Given the description of an element on the screen output the (x, y) to click on. 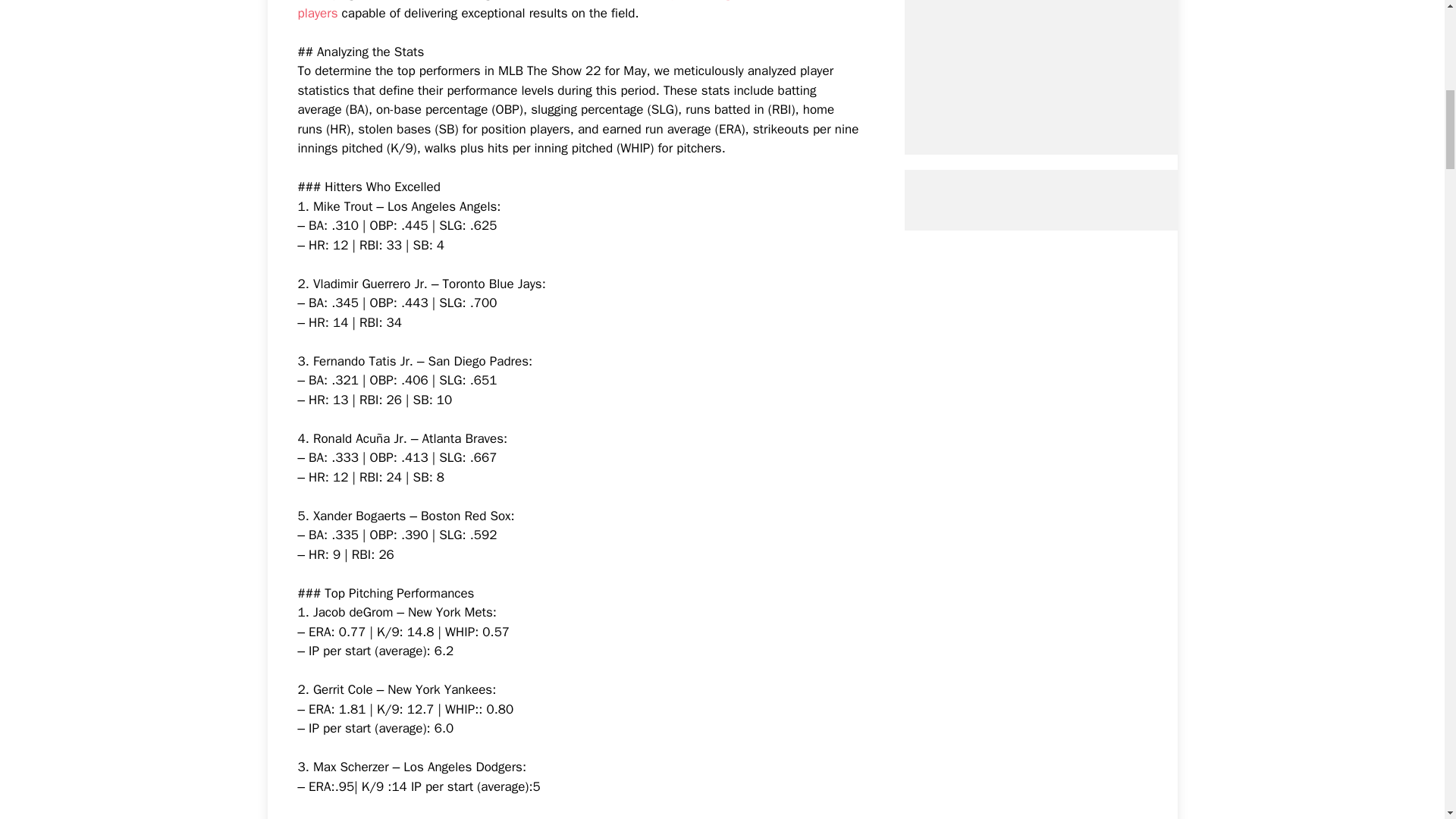
Advertisement (1066, 62)
Scroll back to top (1406, 720)
teams by selecting influential players (543, 10)
